Given the description of an element on the screen output the (x, y) to click on. 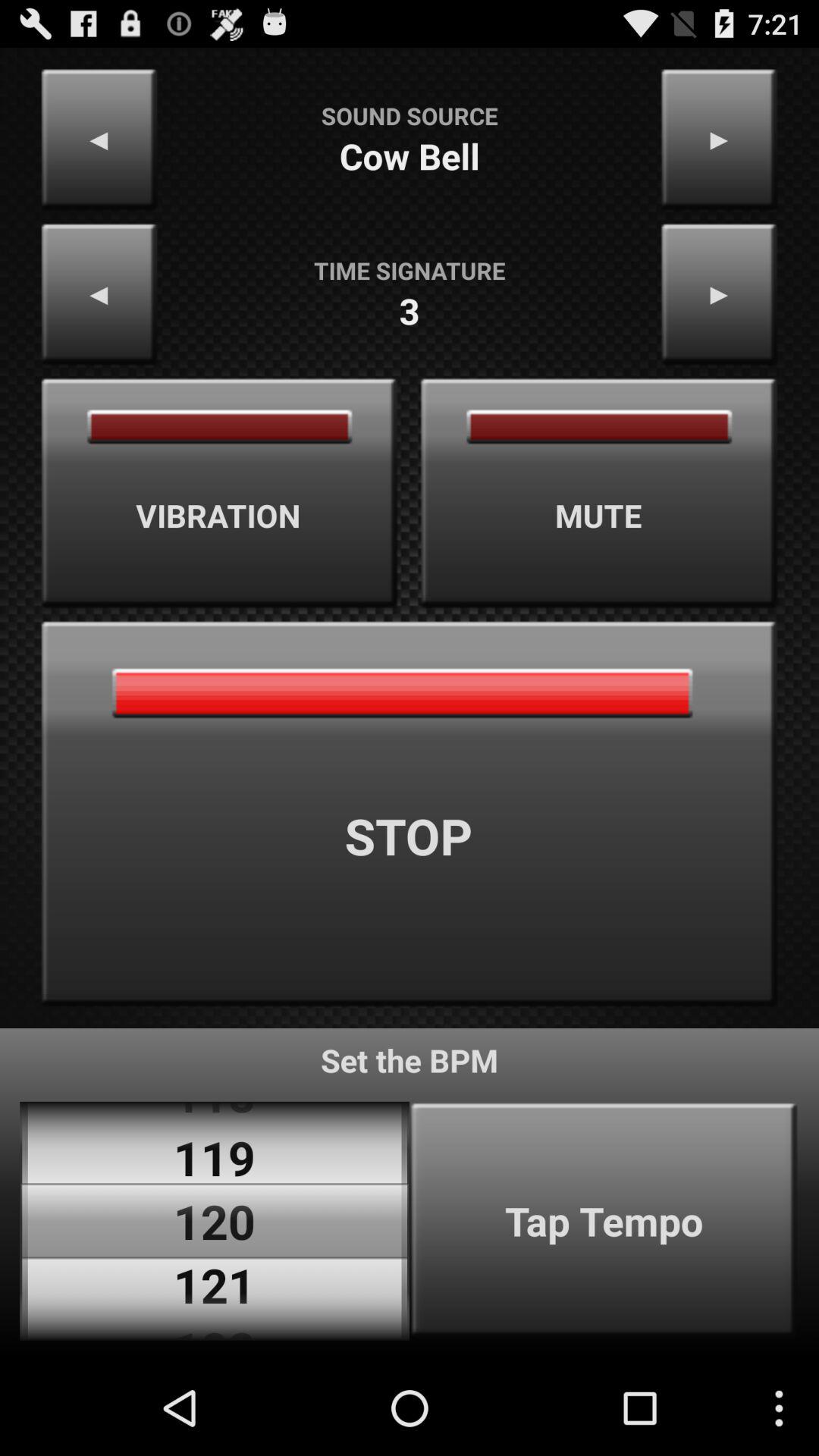
select item next to vibration icon (599, 493)
